Given the description of an element on the screen output the (x, y) to click on. 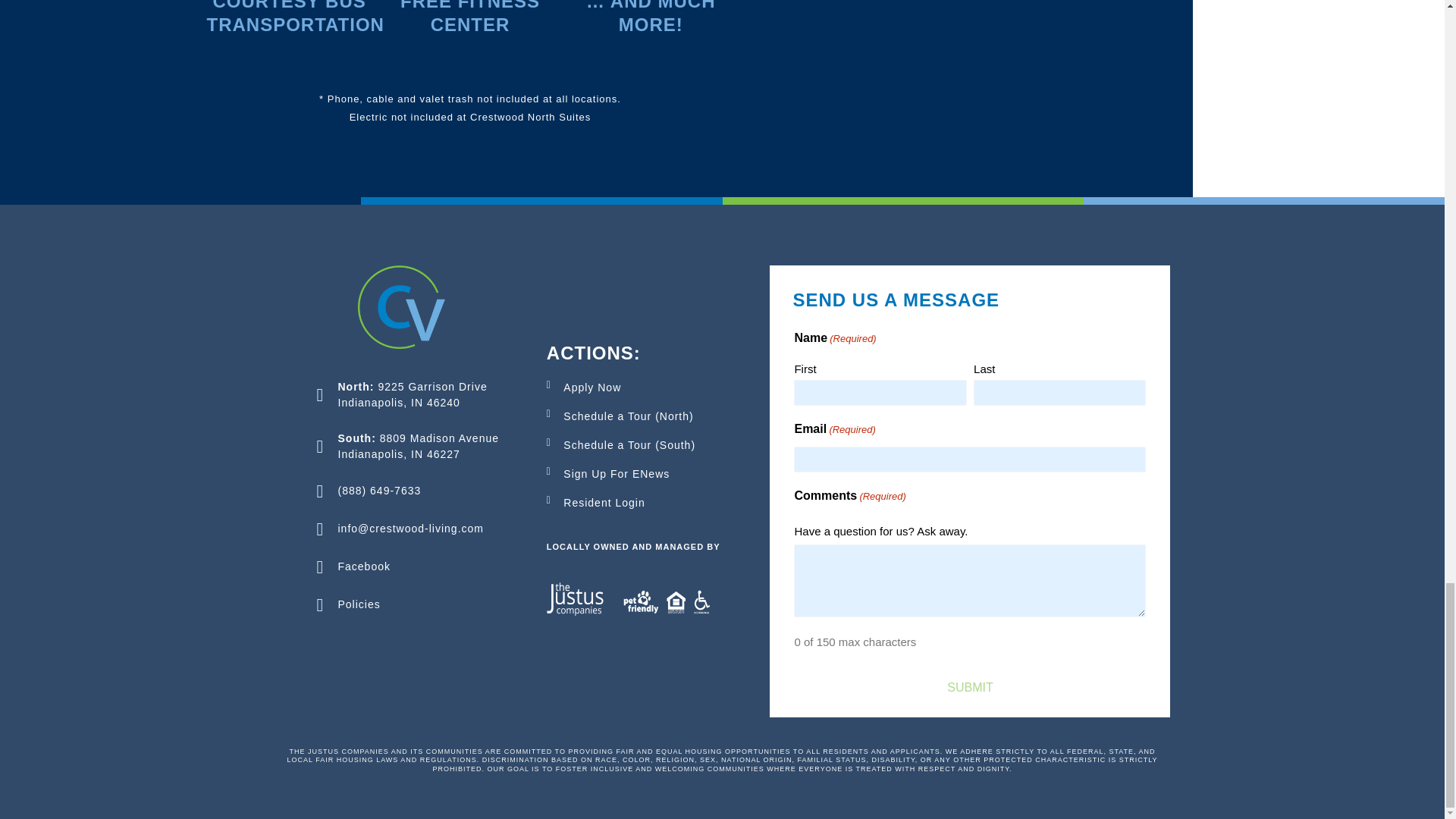
Facebook (408, 566)
North: 9225 Garrison Drive Indianapolis, IN 46240 (408, 395)
Apply Now (652, 387)
Submit (969, 687)
South: 8809 Madison Avenue Indianapolis, IN 46227 (408, 446)
Policies (408, 605)
Submit (969, 687)
Sign Up For ENews (652, 474)
Resident Login (652, 503)
